Given the description of an element on the screen output the (x, y) to click on. 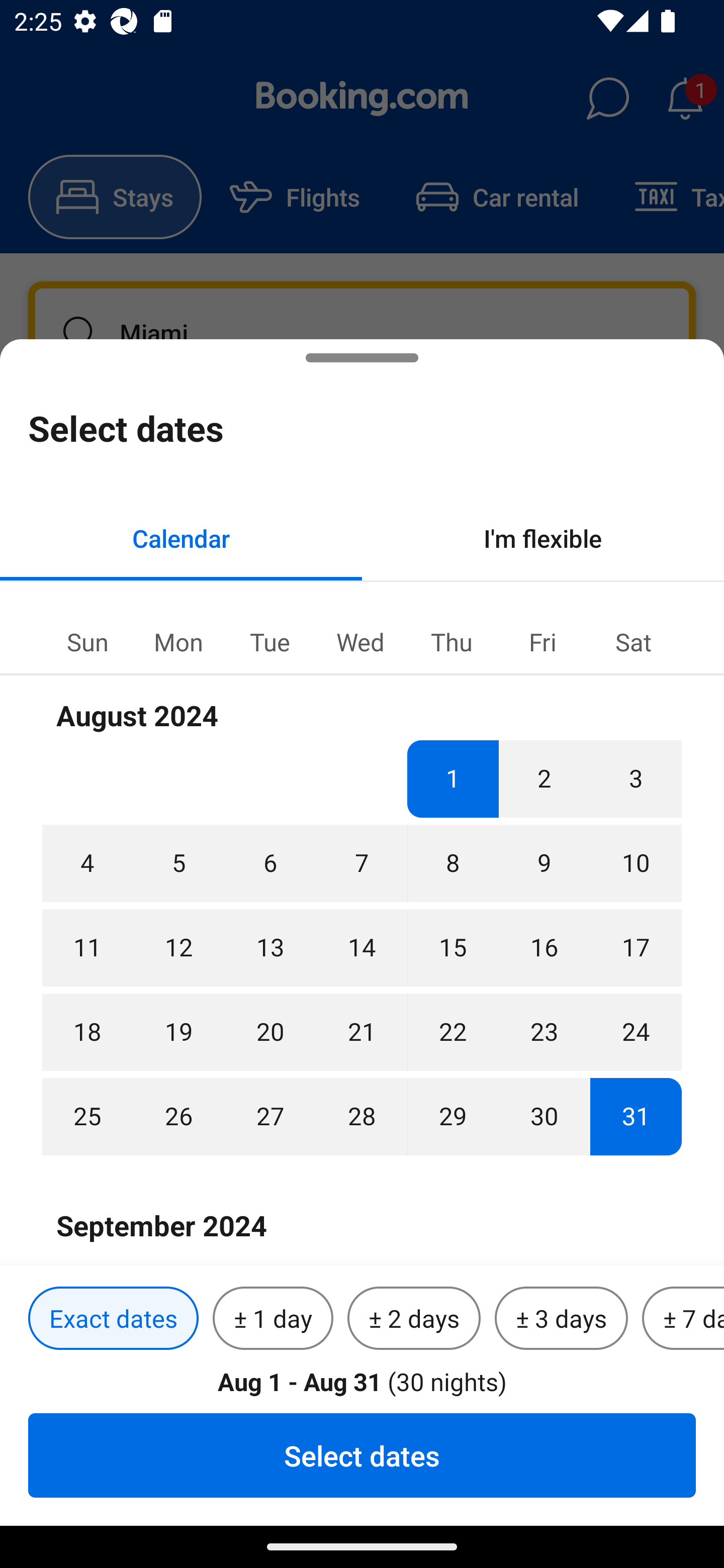
I'm flexible (543, 537)
Exact dates (113, 1318)
± 1 day (272, 1318)
± 2 days (413, 1318)
± 3 days (560, 1318)
± 7 days (683, 1318)
Select dates (361, 1454)
